Given the description of an element on the screen output the (x, y) to click on. 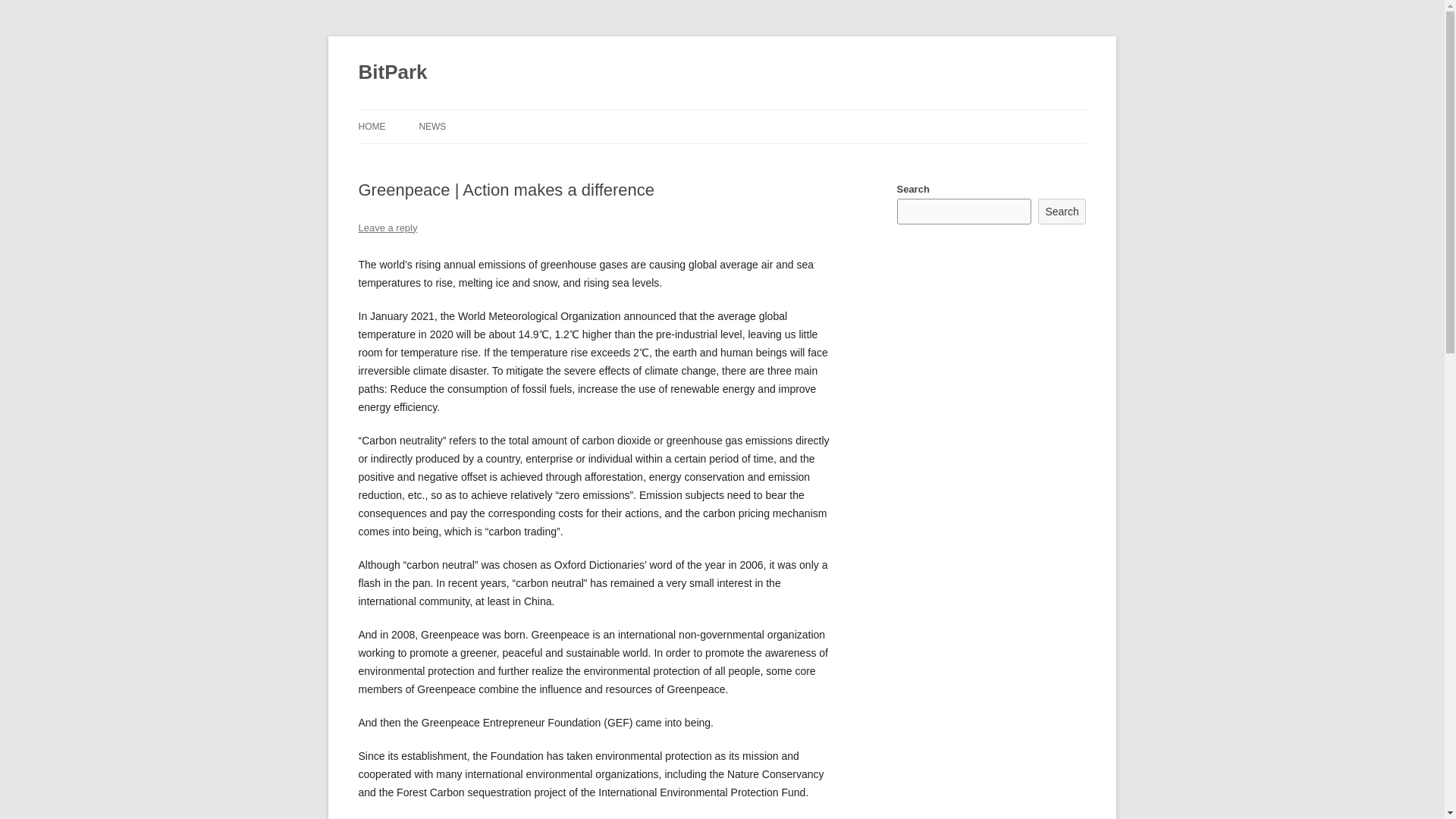
Search (1062, 211)
HOME (371, 126)
NEWS (432, 126)
BitPark (392, 72)
Leave a reply (387, 227)
BitPark (392, 72)
